Given the description of an element on the screen output the (x, y) to click on. 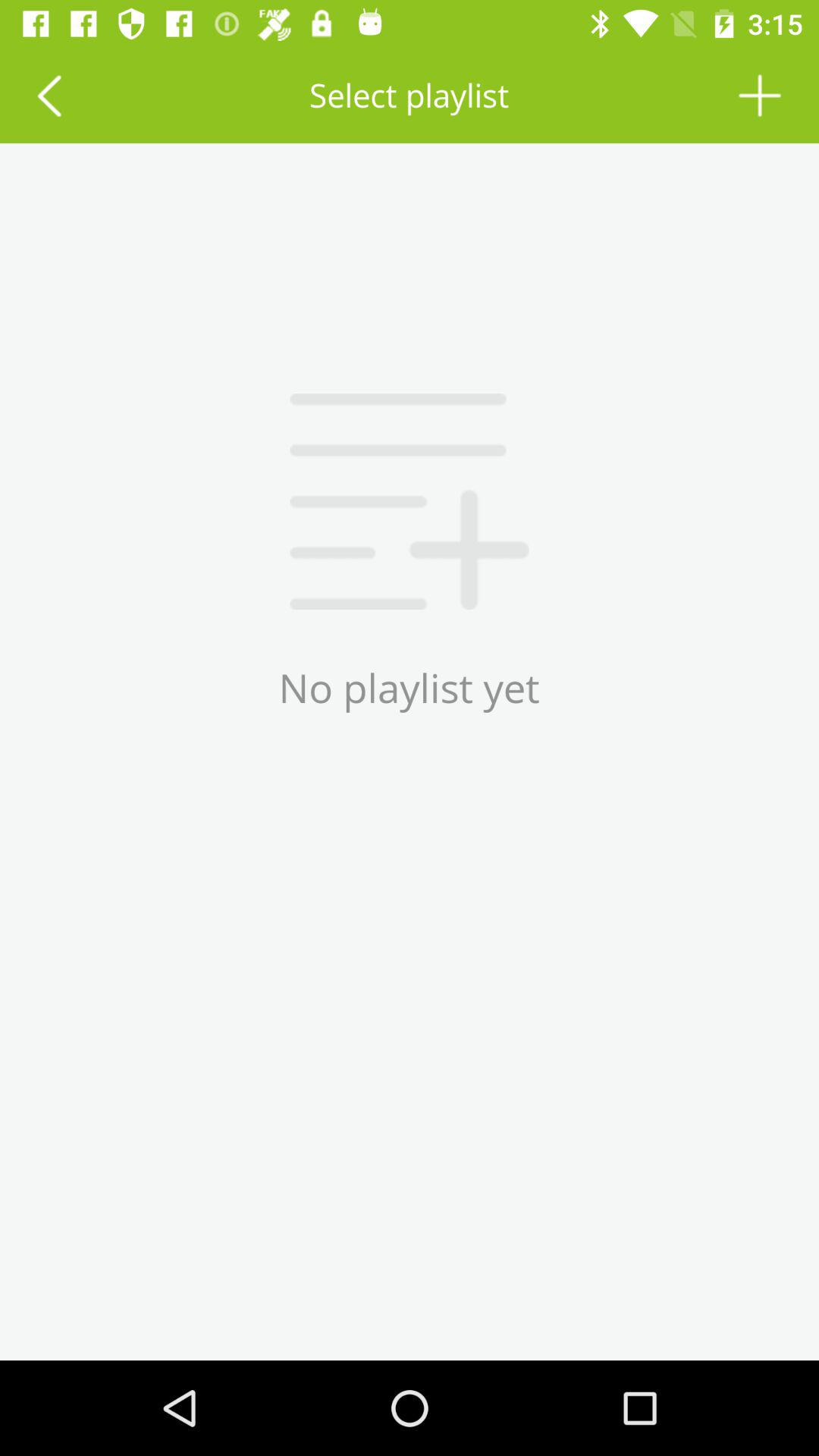
add a new song or playlist (759, 95)
